Given the description of an element on the screen output the (x, y) to click on. 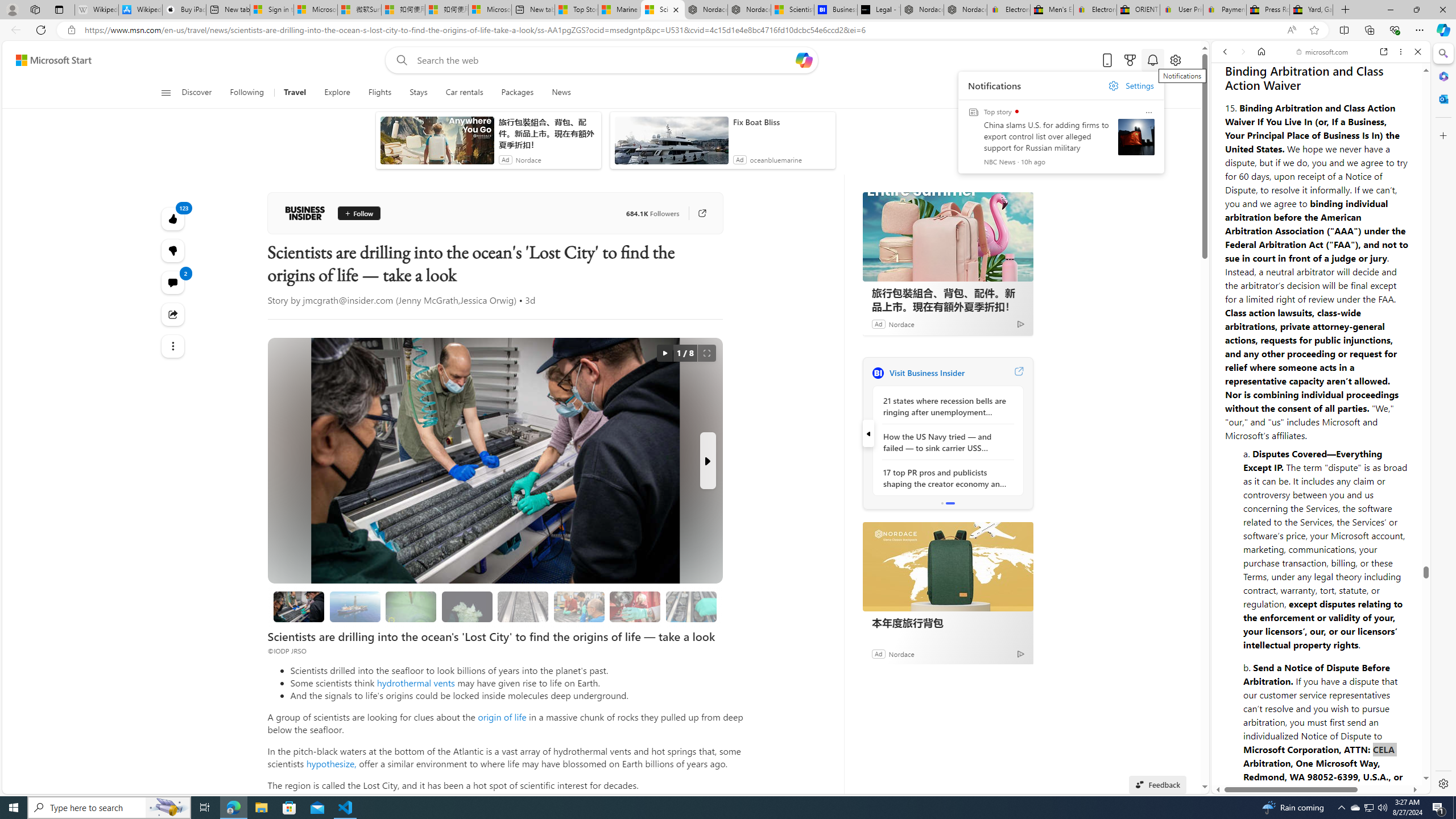
Packages (517, 92)
The Lost City could hold clues to the origin of life. (466, 606)
Press Room - eBay Inc. (1267, 9)
Skip to footer (46, 59)
Notifications (1152, 60)
Split screen (1344, 29)
Business Insider (305, 213)
Follow (358, 213)
News (556, 92)
Top Stories - MSN (576, 9)
Add this page to favorites (Ctrl+D) (1314, 29)
Read aloud this page (Ctrl+Shift+U) (1291, 29)
